Given the description of an element on the screen output the (x, y) to click on. 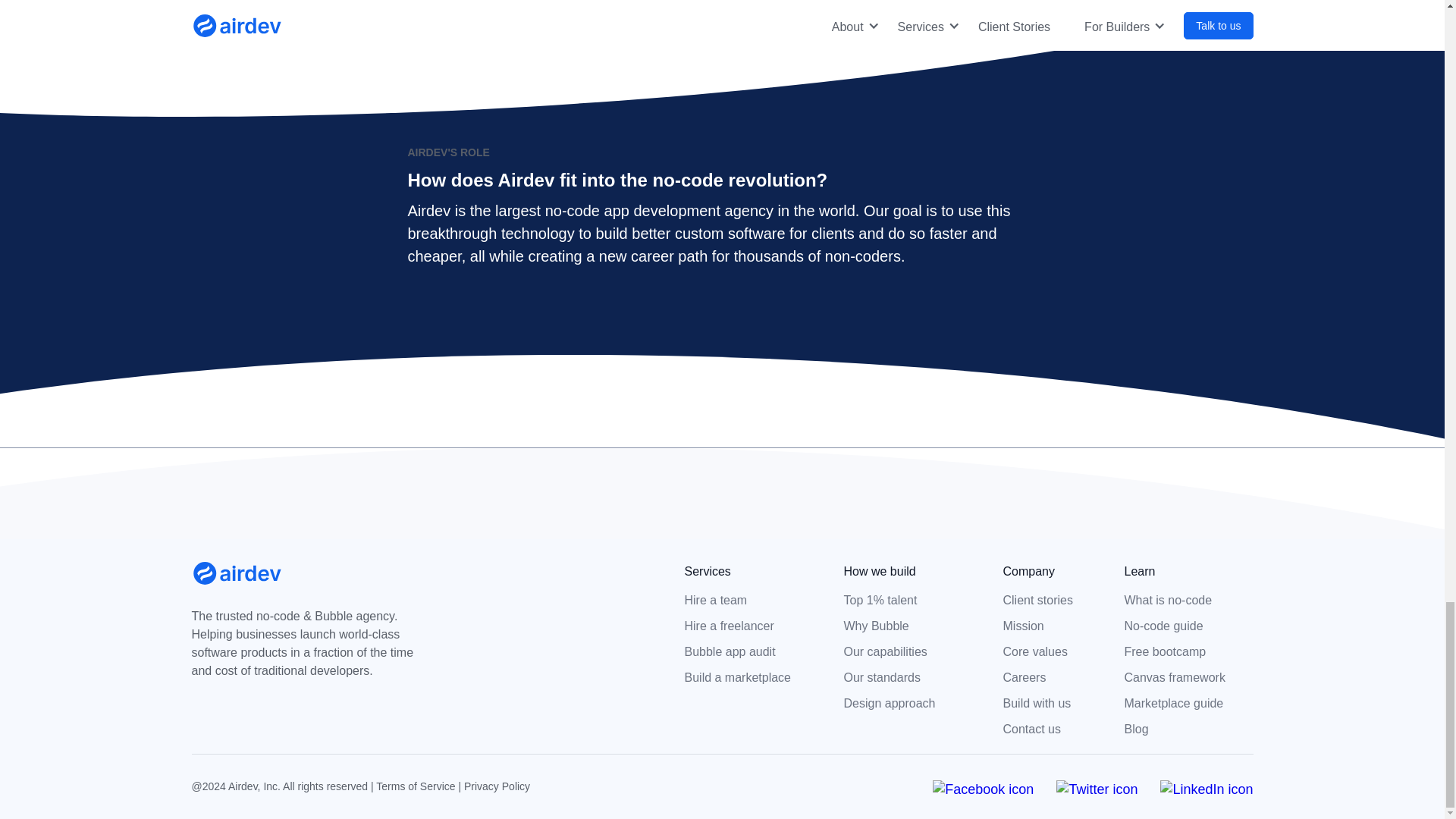
Our capabilities (899, 651)
Our standards (899, 678)
Marketplace guide (1188, 703)
No-code guide (1180, 626)
Why Bubble (899, 626)
Core values (1059, 651)
Blog (1180, 729)
Build with us (1059, 703)
Mission (1059, 626)
Client stories (1059, 600)
Free bootcamp (1180, 651)
Design approach (899, 703)
Bubble app audit (740, 651)
Contact us (1059, 729)
Build a marketplace (740, 678)
